Given the description of an element on the screen output the (x, y) to click on. 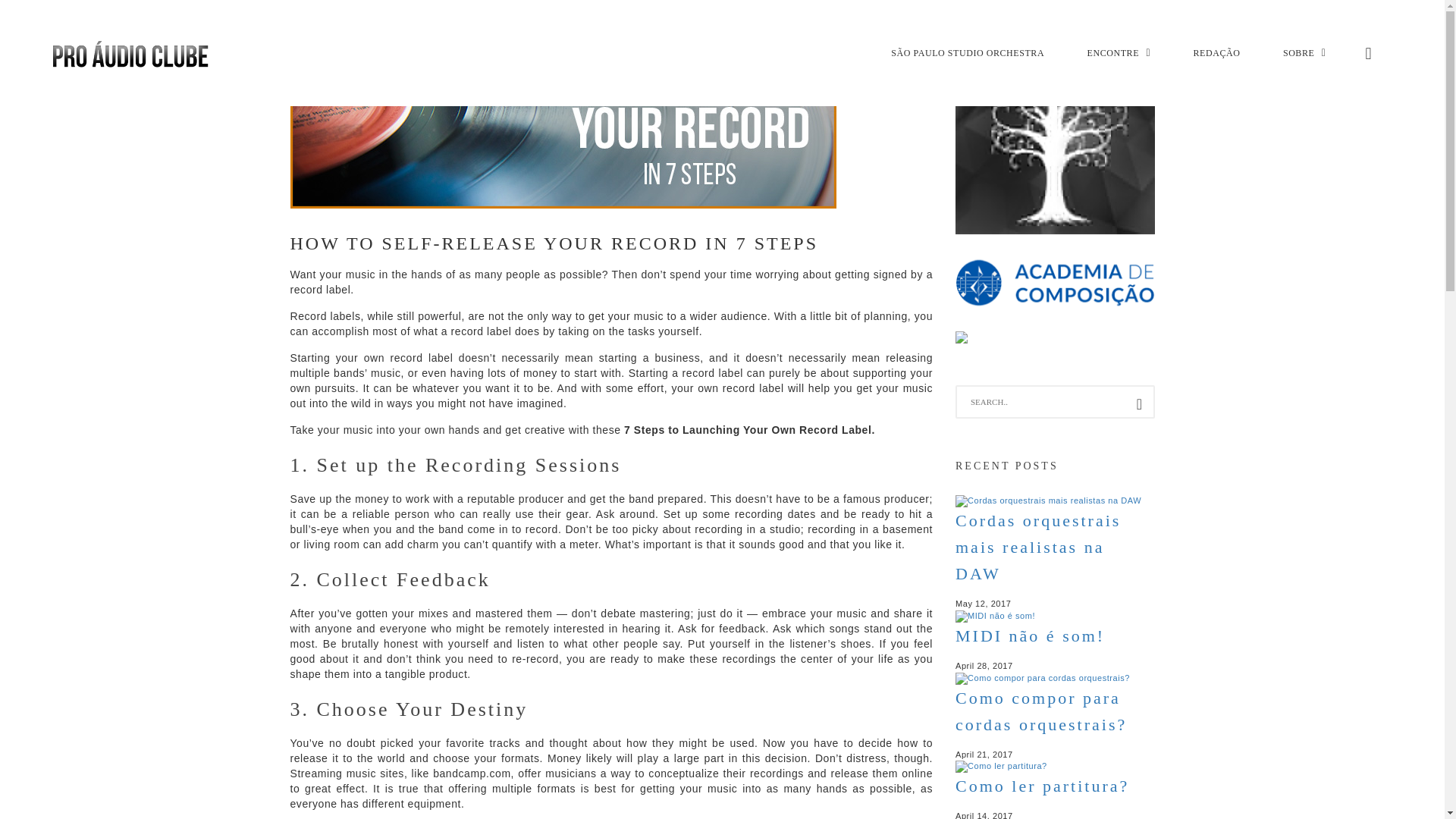
LOCUTORES (1162, 364)
LUTHIERS (1162, 393)
EDITORES DE SOM (1162, 222)
GAME MUSIC (1162, 278)
COMPOSITORES (1162, 193)
SOM DIRETO (1162, 535)
PRODUTOR MUSICAL (1162, 507)
AGENTES (1162, 164)
